Given the description of an element on the screen output the (x, y) to click on. 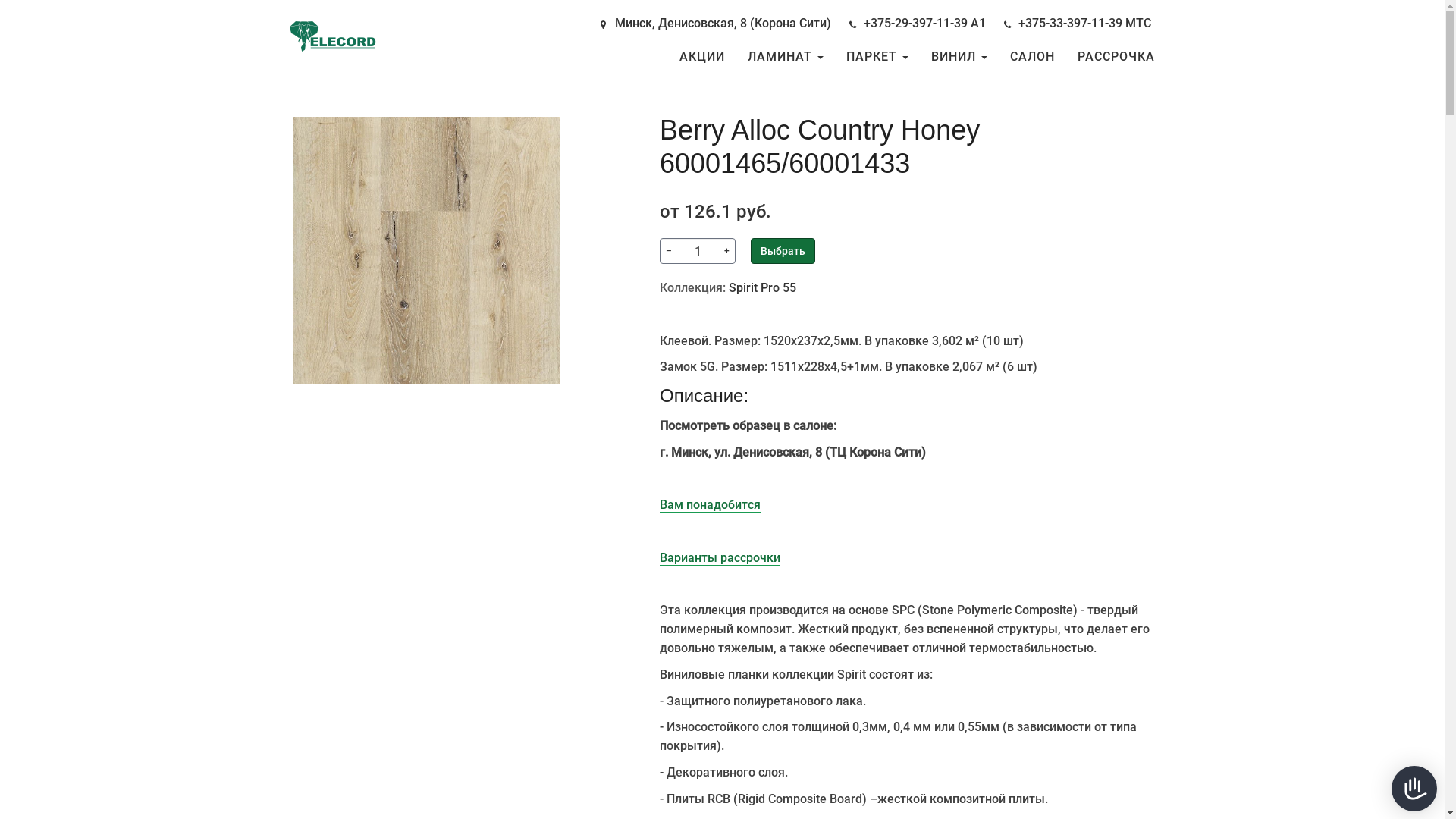
+ Element type: text (726, 250)
+375-29-397-11-39 Element type: text (914, 22)
+375-33-397-11-39 Element type: text (1069, 22)
